Given the description of an element on the screen output the (x, y) to click on. 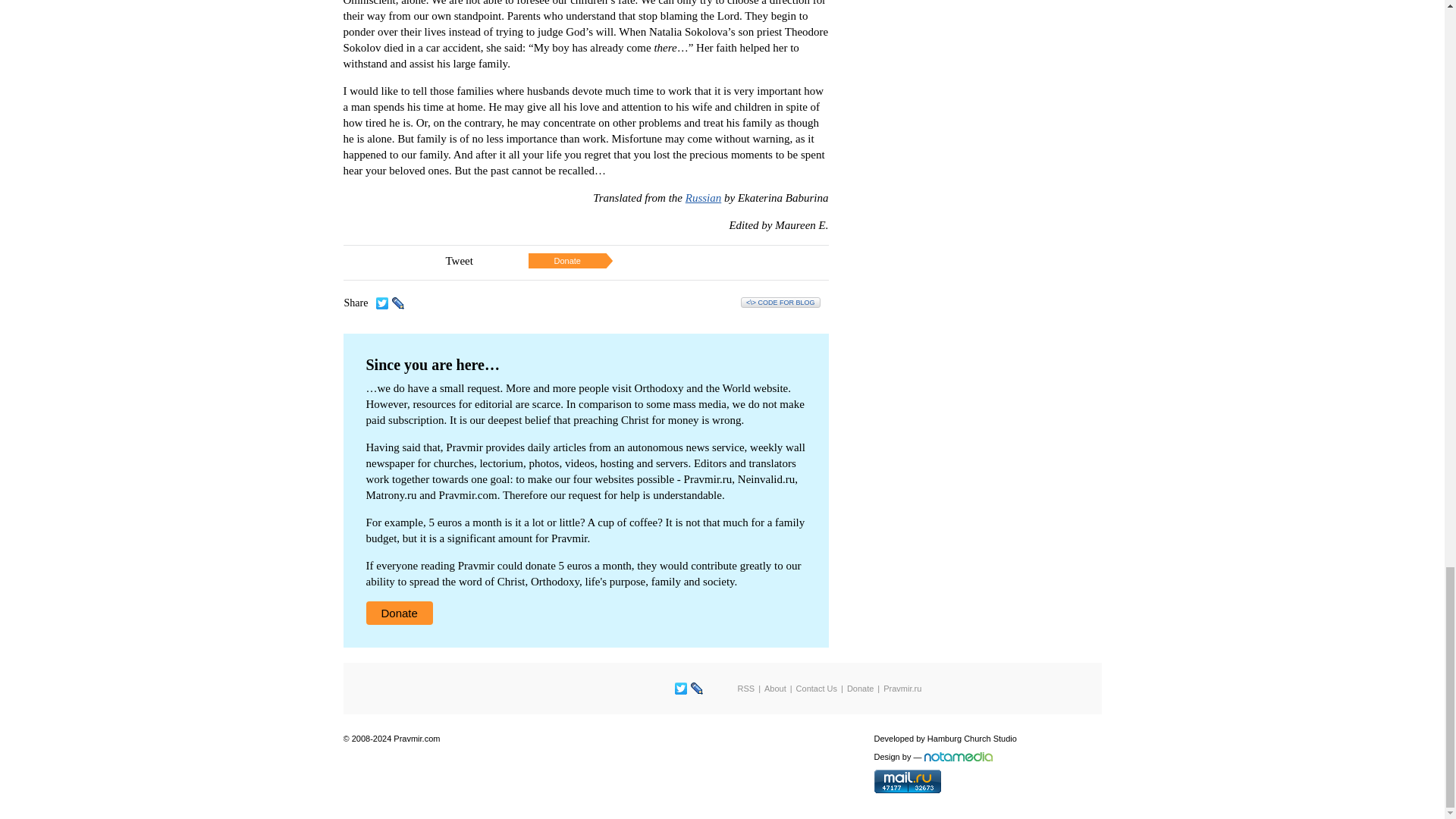
LiveJournal (696, 688)
LiveJournal (398, 302)
Twitter (680, 688)
Twitter (382, 302)
